Given the description of an element on the screen output the (x, y) to click on. 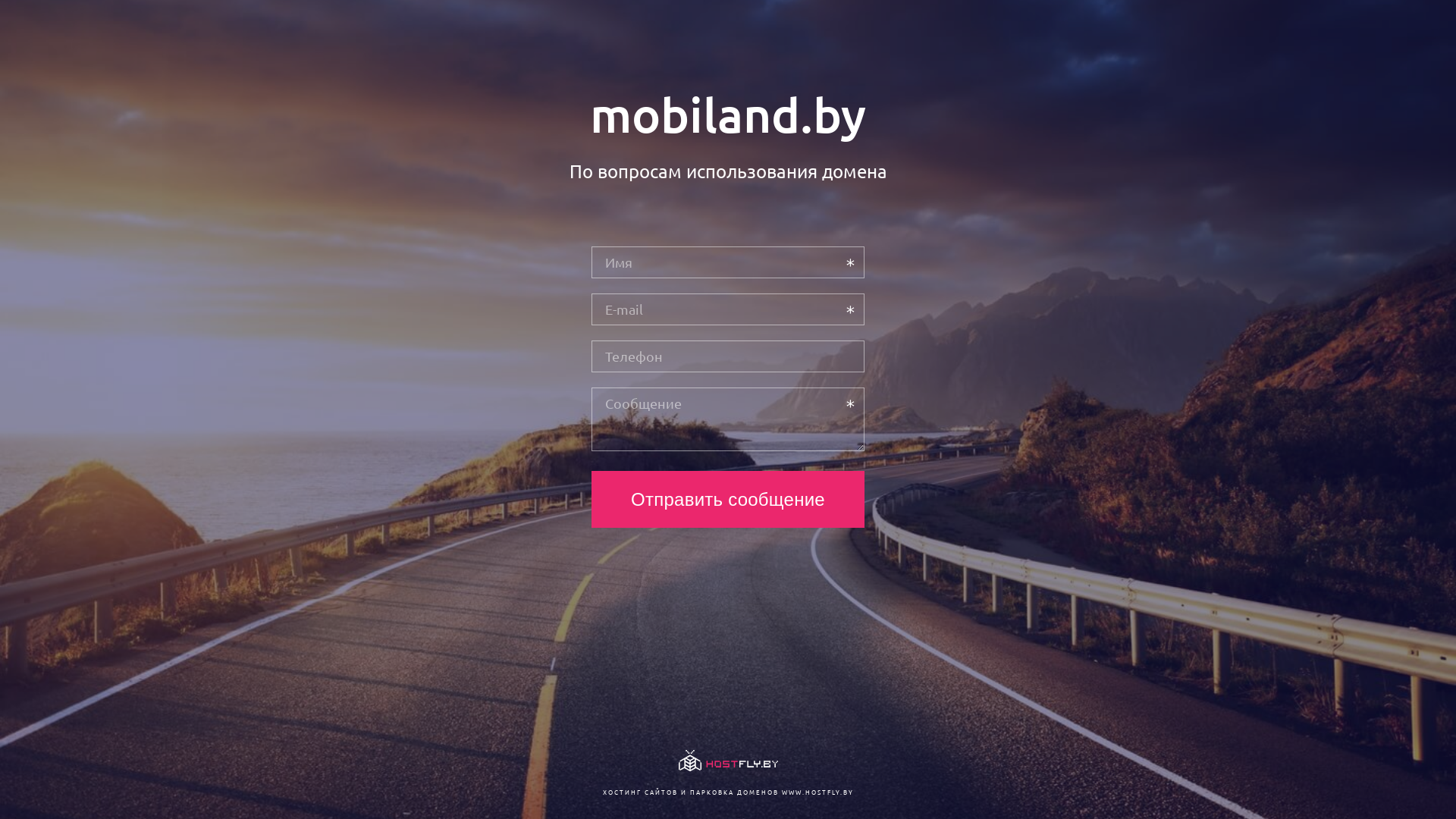
WWW.HOSTFLY.BY Element type: text (817, 791)
